Given the description of an element on the screen output the (x, y) to click on. 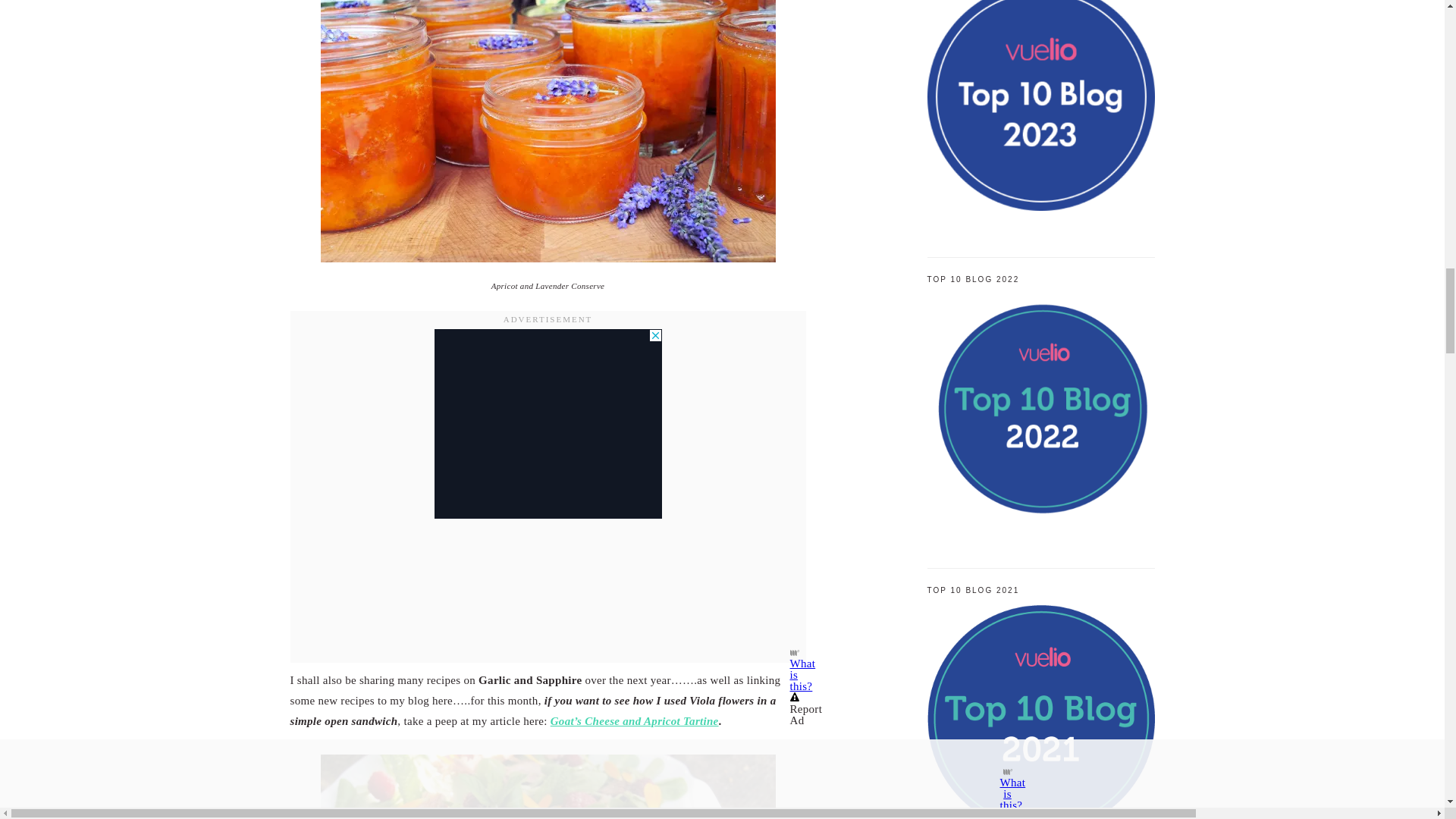
Duck, Raspberry and Marigold Salad (547, 786)
Apricot and Lavender Conserve (547, 131)
3rd party ad content (547, 423)
